Given the description of an element on the screen output the (x, y) to click on. 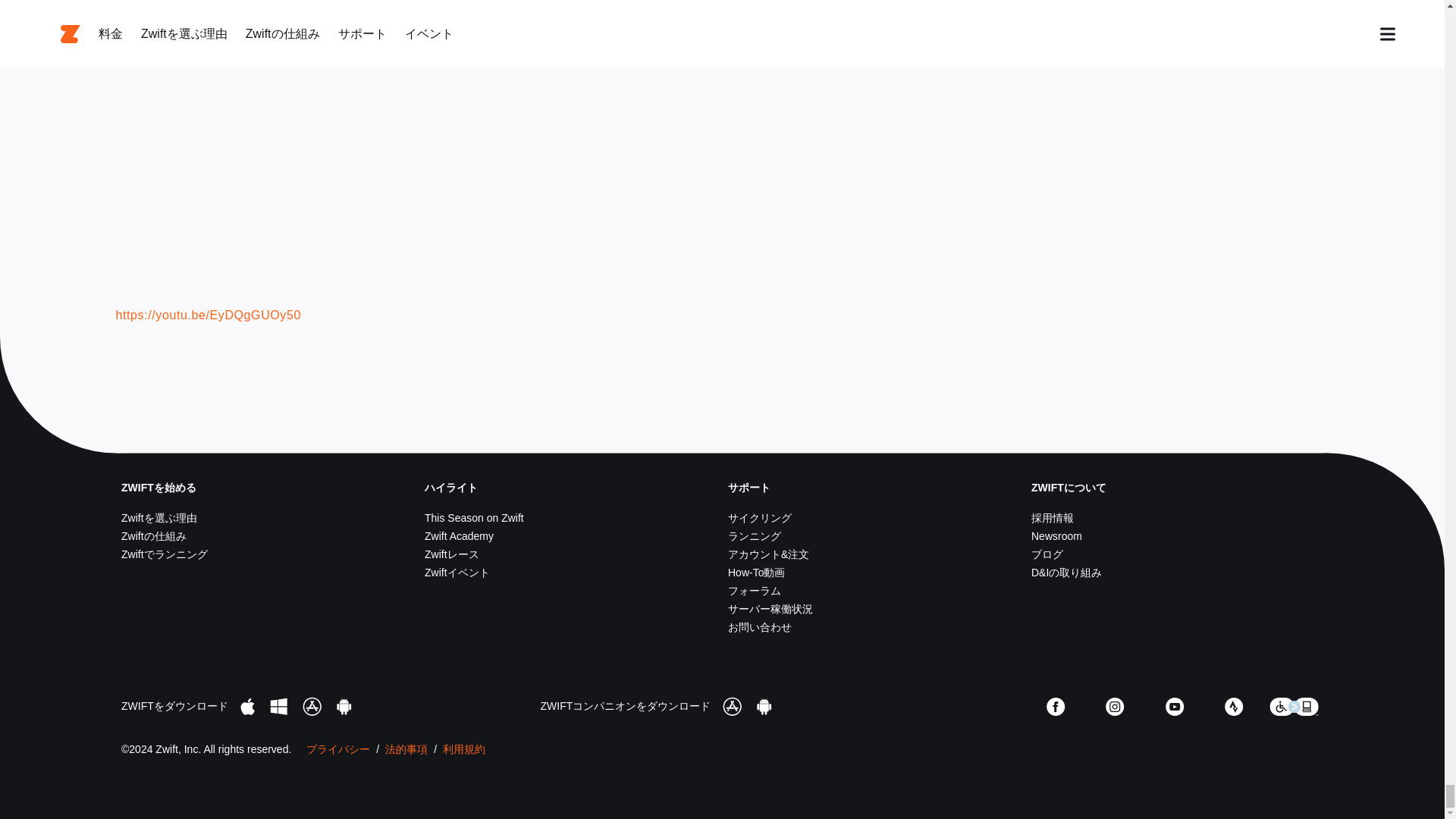
Zwift (424, 433)
